Given the description of an element on the screen output the (x, y) to click on. 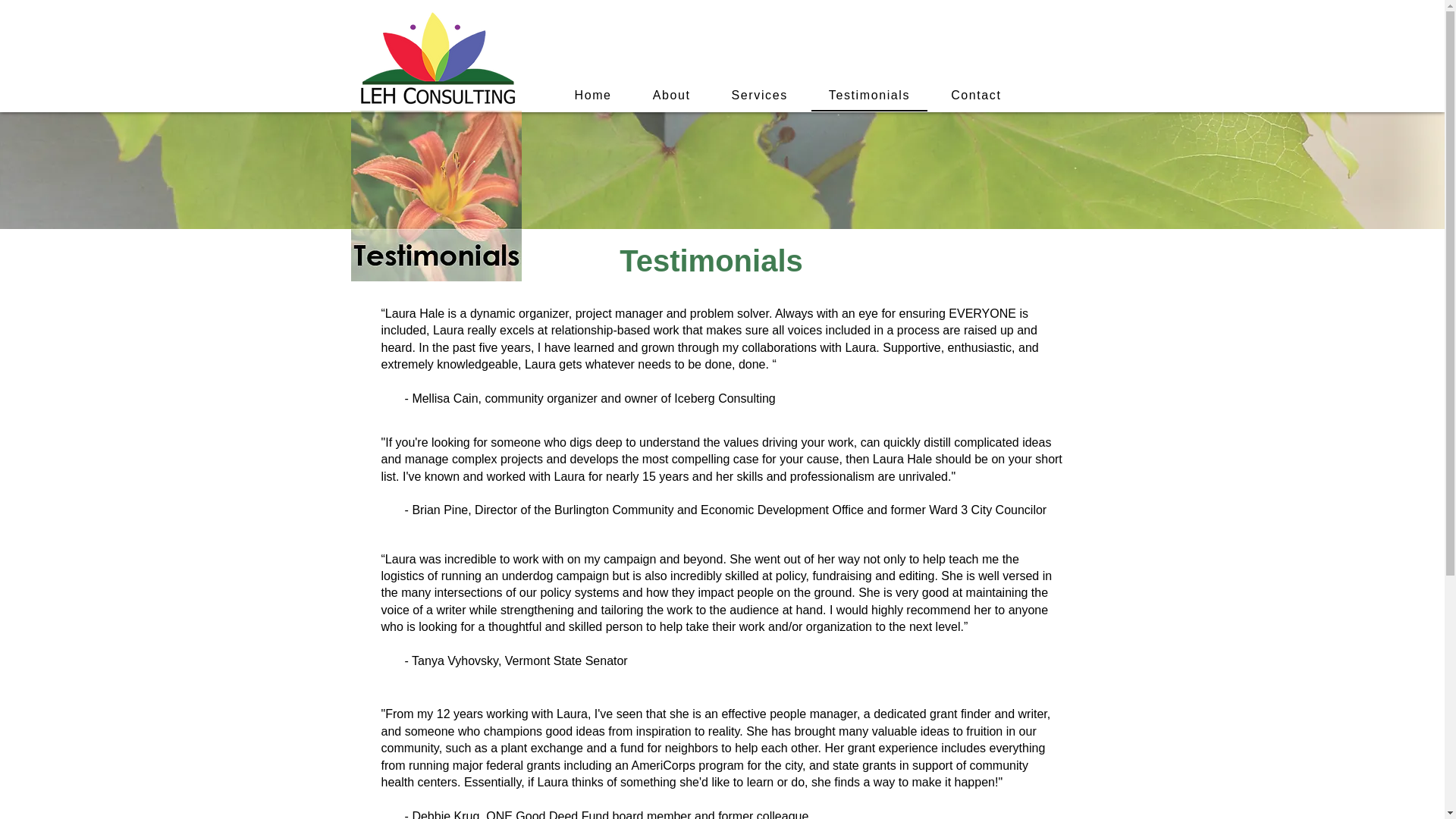
Services (759, 96)
About (670, 96)
Testimonials (868, 96)
Contact (975, 96)
Home (592, 96)
